Given the description of an element on the screen output the (x, y) to click on. 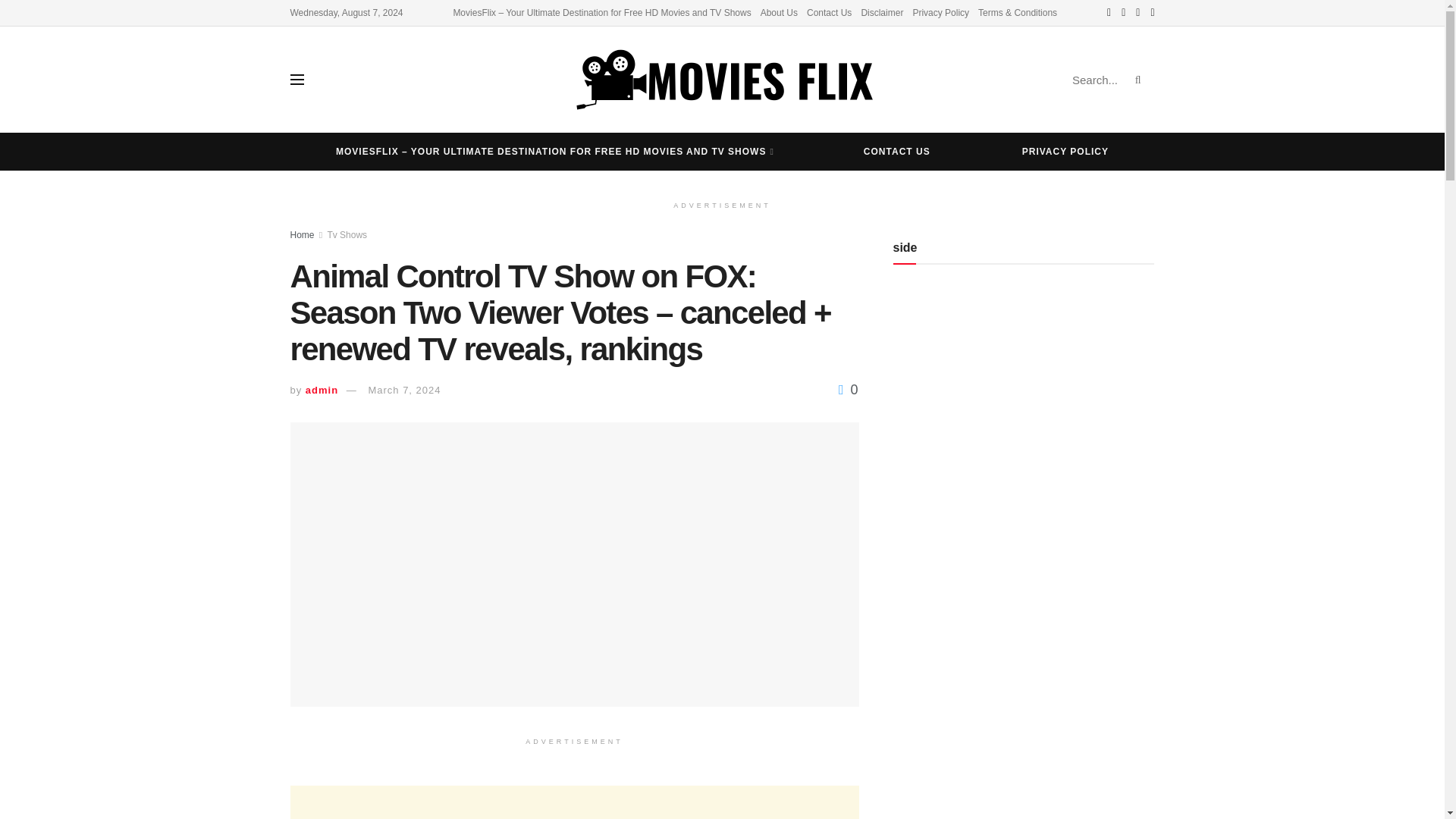
Privacy Policy (940, 12)
PRIVACY POLICY (1064, 151)
Contact Us (828, 12)
Disclaimer (881, 12)
CONTACT US (895, 151)
About Us (778, 12)
